Given the description of an element on the screen output the (x, y) to click on. 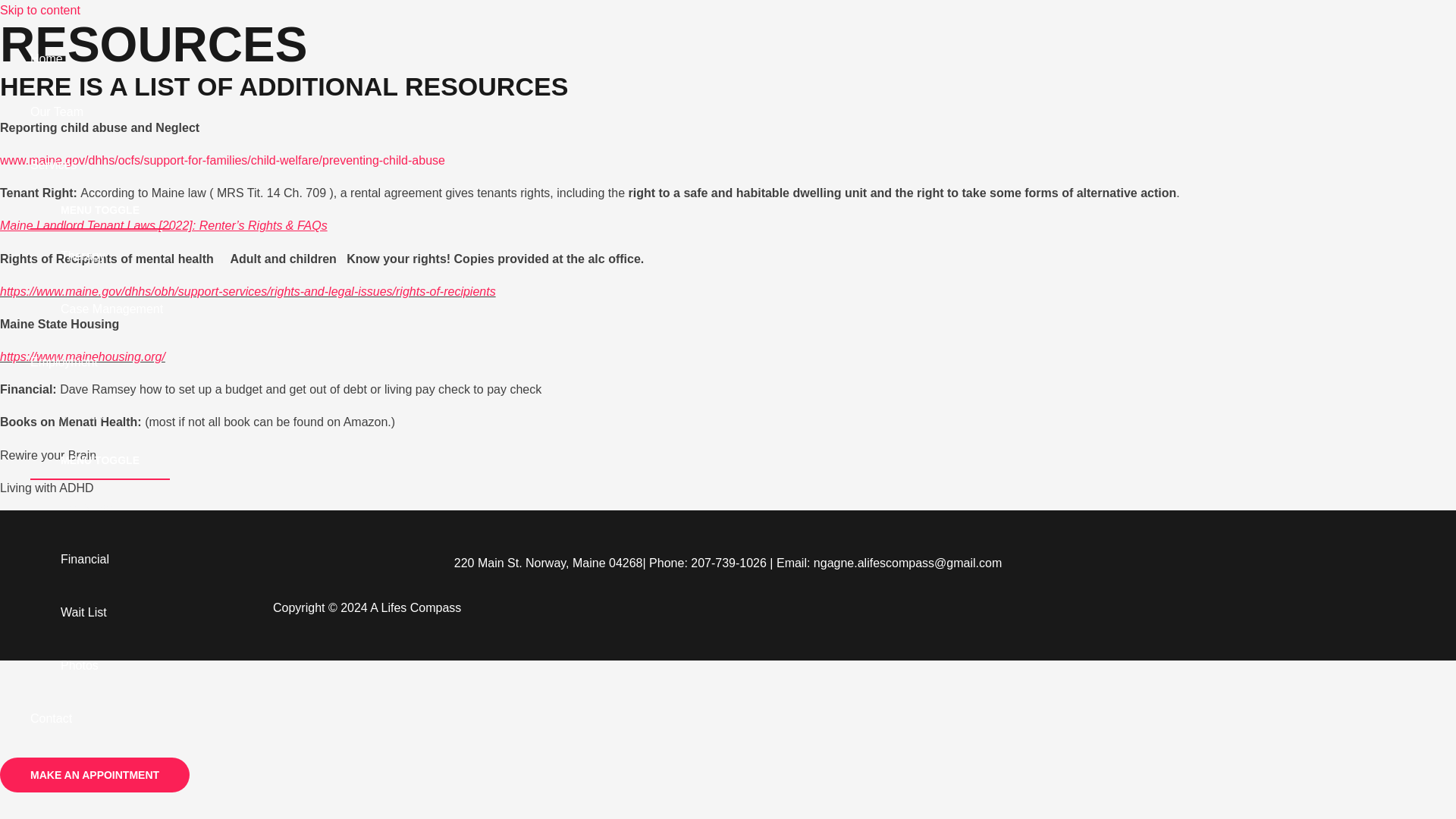
MENU TOGGLE (100, 460)
Financial (115, 559)
Services (100, 164)
Skip to content (40, 10)
Case Management (115, 308)
Skip to content (40, 10)
Therapy (115, 256)
Resources (115, 506)
Our Team (100, 111)
Employment (100, 362)
